Given the description of an element on the screen output the (x, y) to click on. 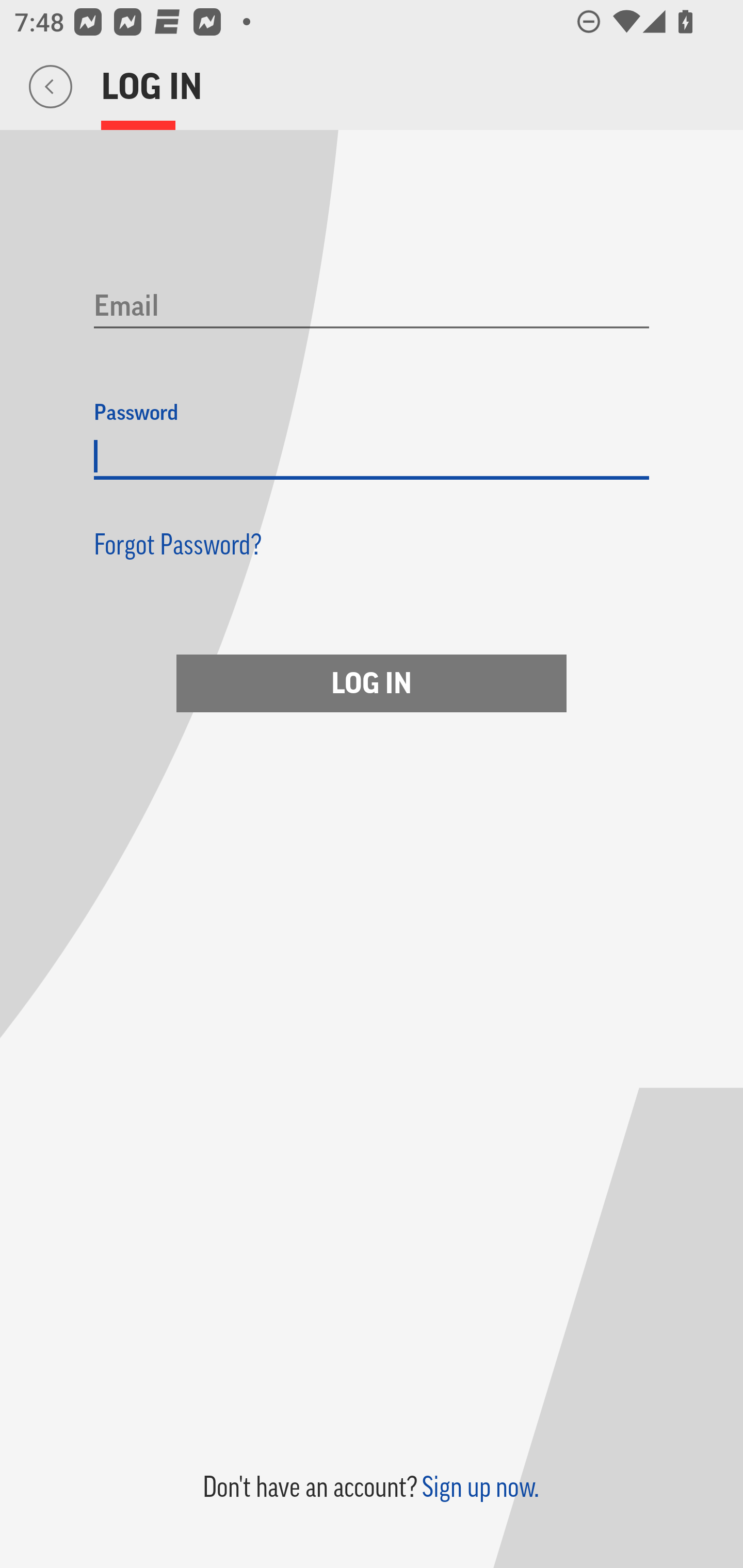
Email (371, 306)
Password (371, 456)
Forgot Password? (177, 543)
LOG IN (371, 682)
Don't have an account? Sign up now. (370, 1485)
